Given the description of an element on the screen output the (x, y) to click on. 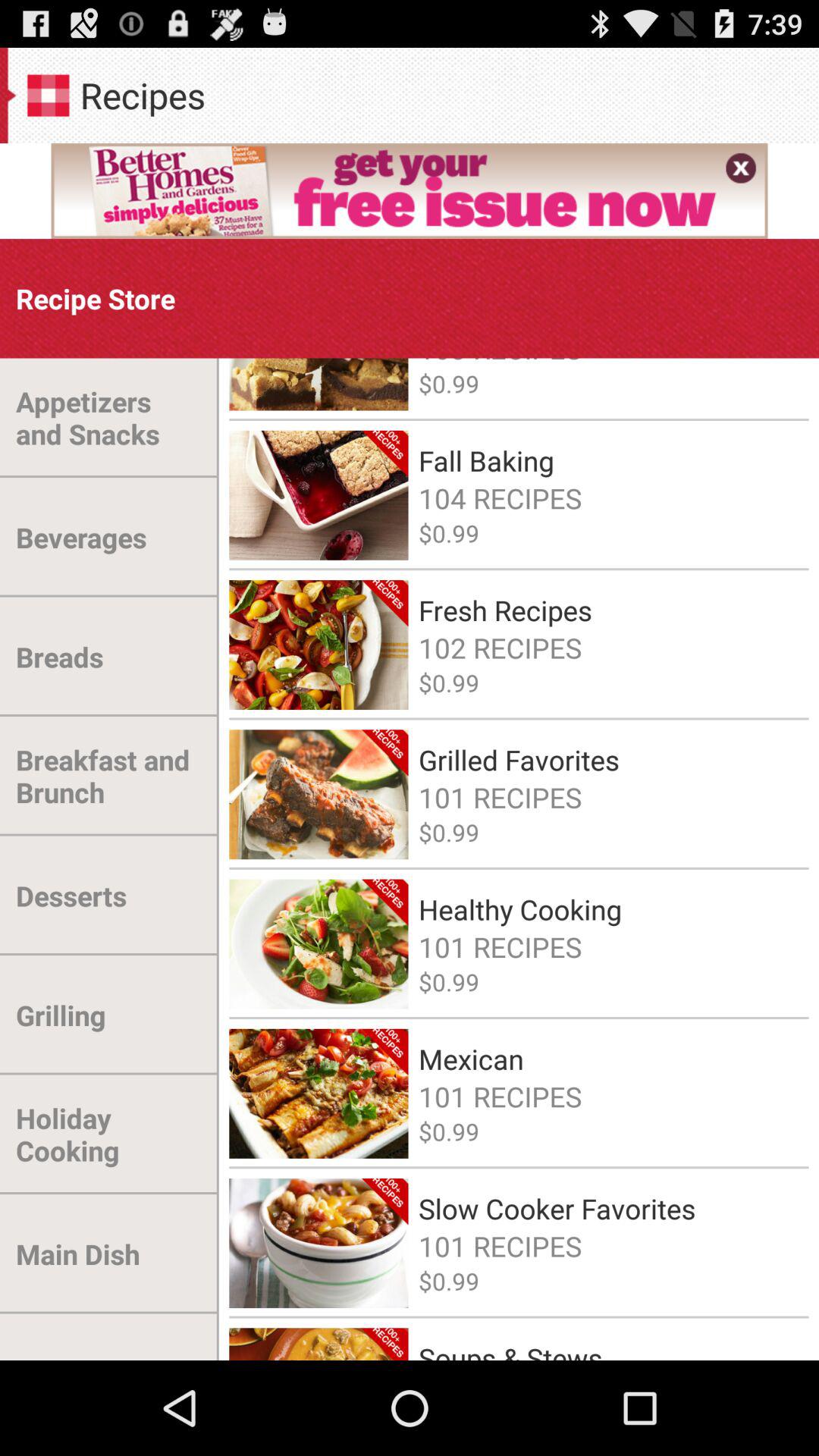
turn on the holiday cooking (109, 1134)
